Given the description of an element on the screen output the (x, y) to click on. 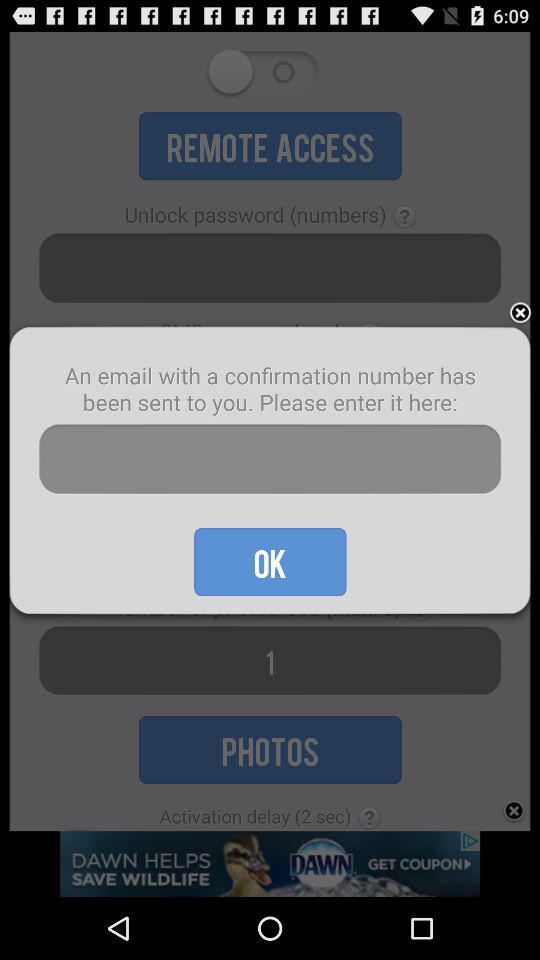
close box (520, 313)
